Given the description of an element on the screen output the (x, y) to click on. 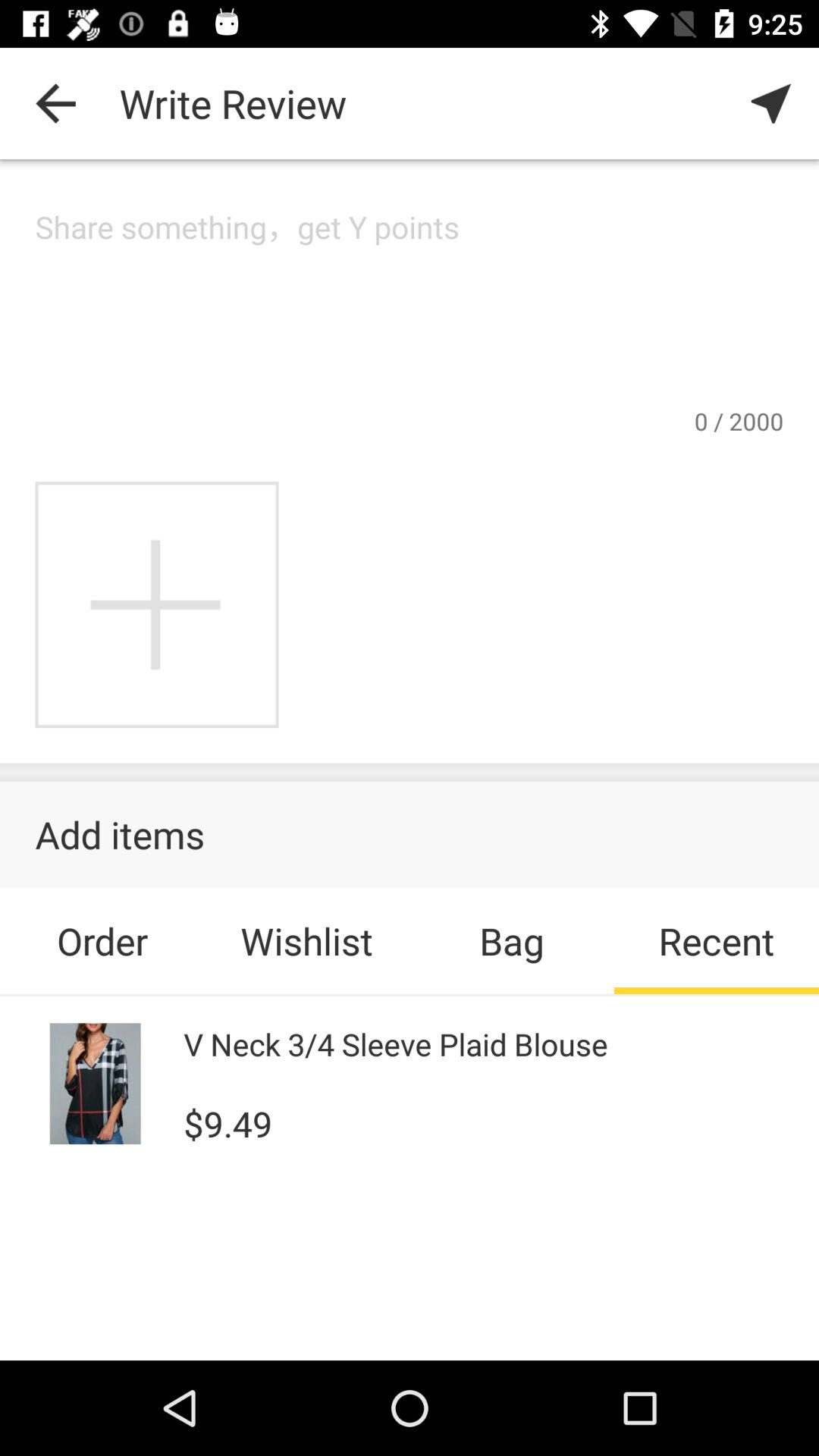
add more photos (156, 604)
